Given the description of an element on the screen output the (x, y) to click on. 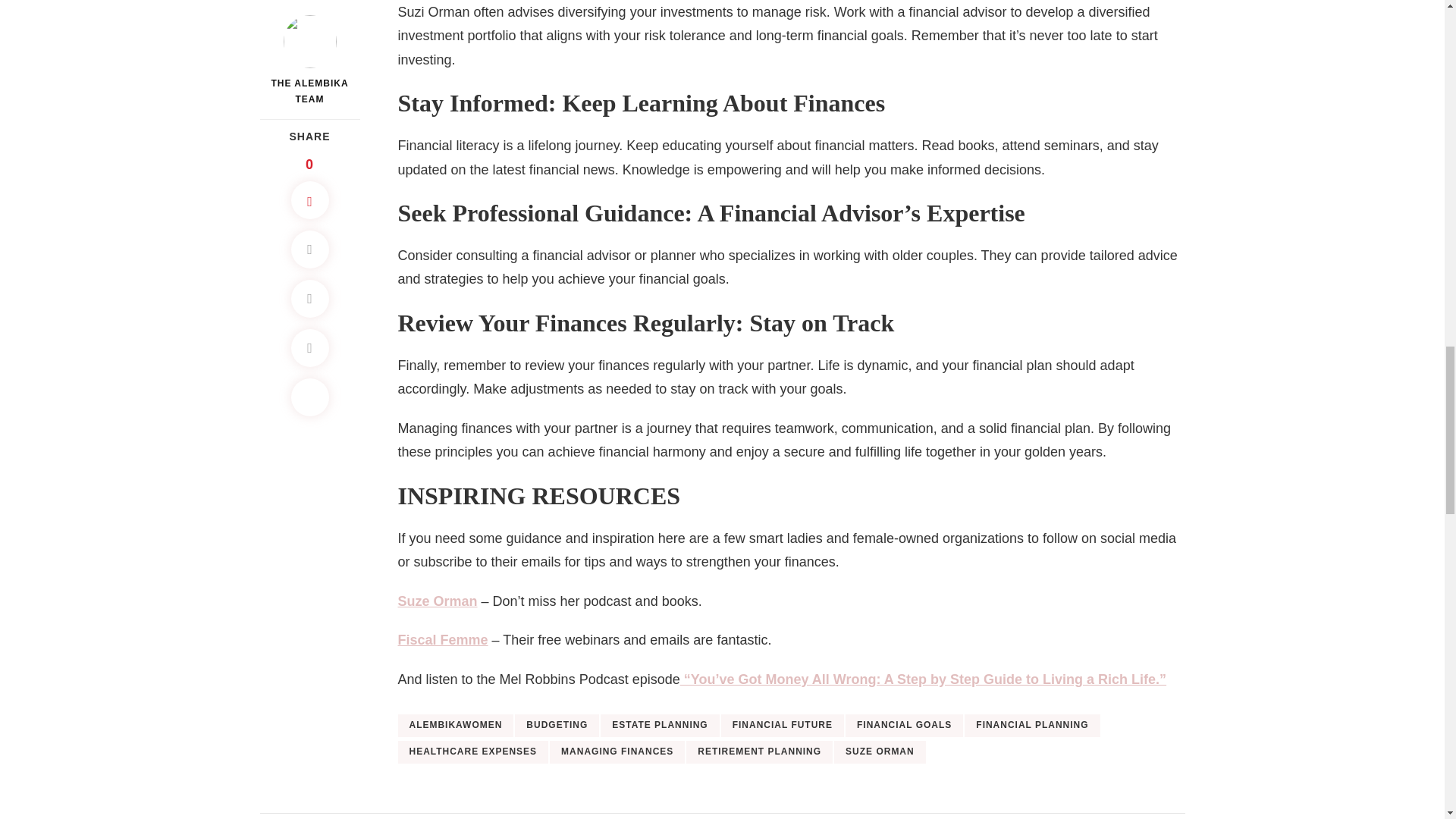
BUDGETING (556, 725)
FINANCIAL PLANNING (1031, 725)
Suze Orman (437, 601)
Fiscal Femme (442, 639)
ALEMBIKAWOMEN (455, 725)
HEALTHCARE EXPENSES (472, 752)
FINANCIAL GOALS (903, 725)
MANAGING FINANCES (617, 752)
FINANCIAL FUTURE (782, 725)
ESTATE PLANNING (659, 725)
